Given the description of an element on the screen output the (x, y) to click on. 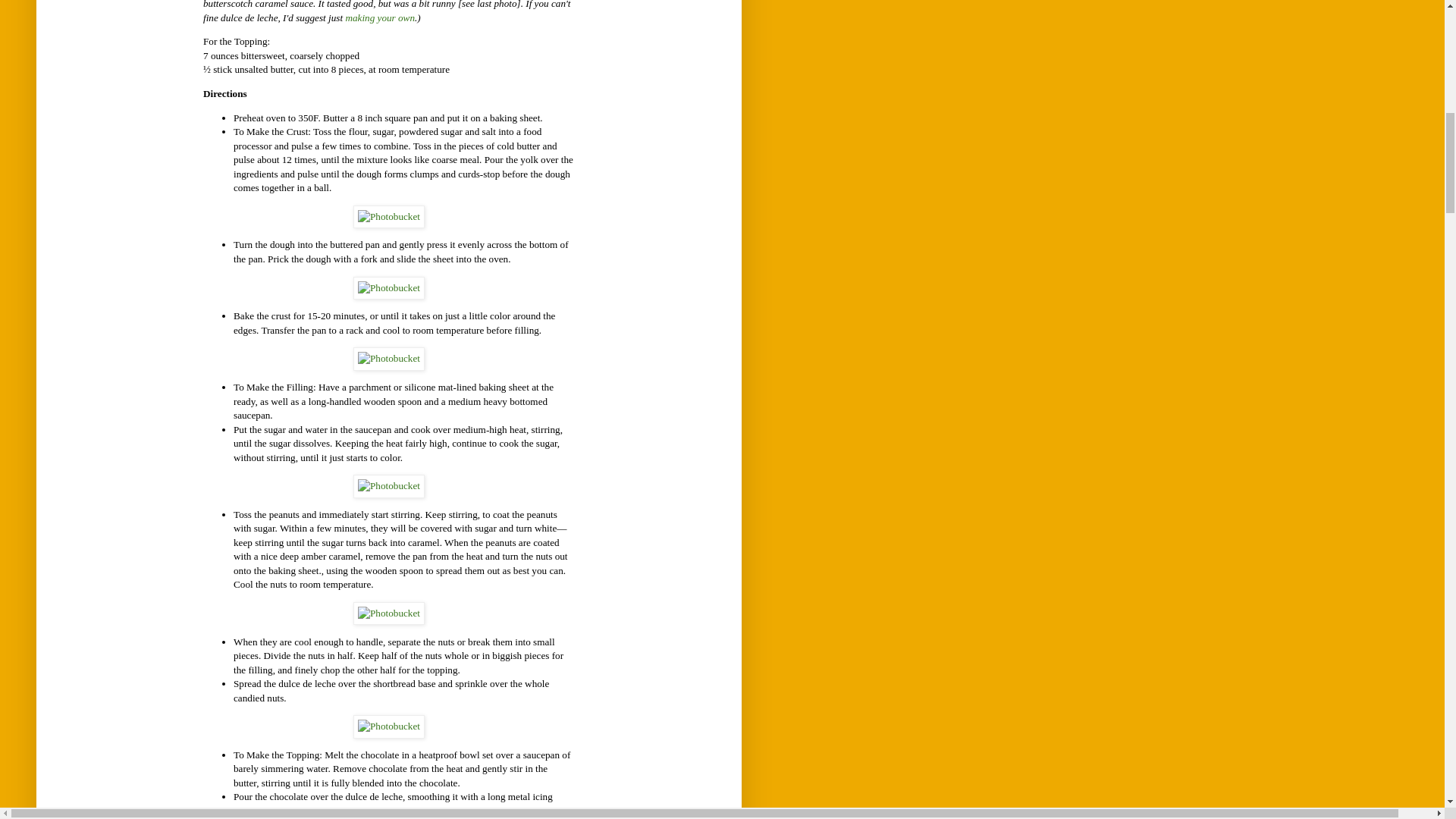
making your own (379, 17)
